Given the description of an element on the screen output the (x, y) to click on. 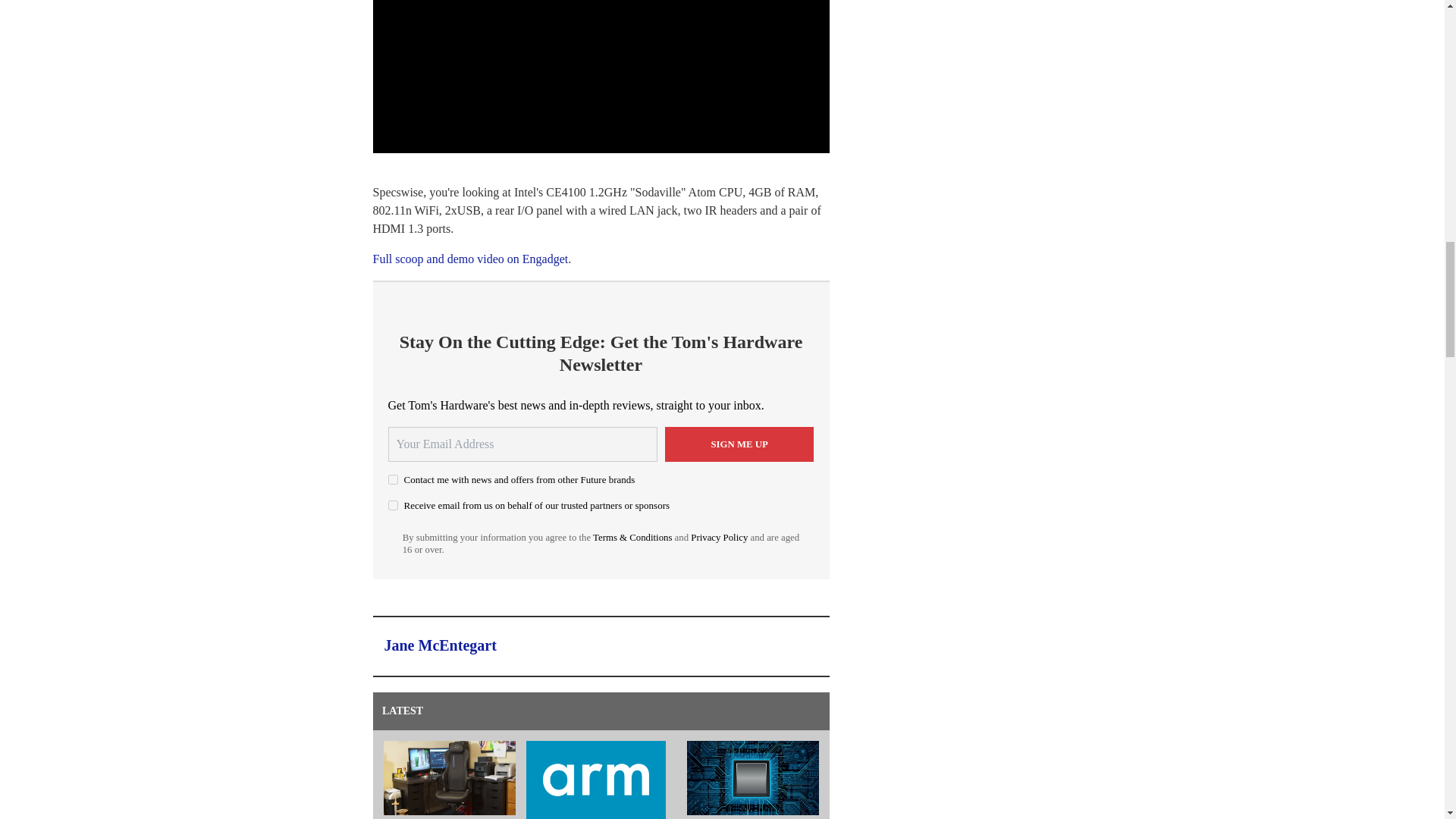
on (392, 479)
on (392, 505)
Sign me up (739, 443)
